Given the description of an element on the screen output the (x, y) to click on. 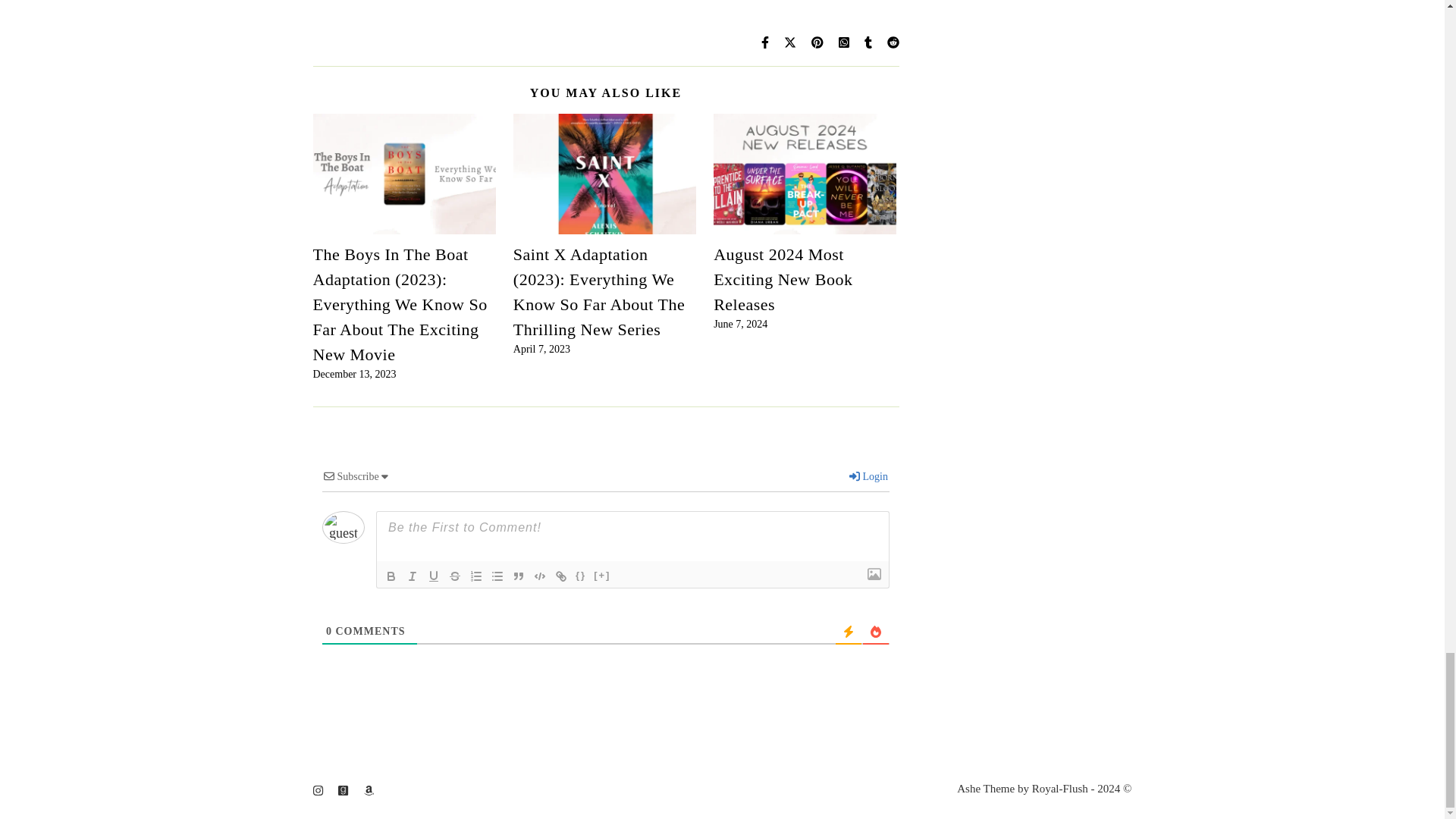
Login (868, 476)
Code Block (539, 576)
Underline (433, 576)
Spoiler (601, 576)
Unordered List (497, 576)
August 2024 Most Exciting New Book Releases (782, 278)
Ordered List (475, 576)
Bold (390, 576)
Link (561, 576)
Source Code (580, 576)
Strike (454, 576)
Blockquote (518, 576)
Italic (412, 576)
